Given the description of an element on the screen output the (x, y) to click on. 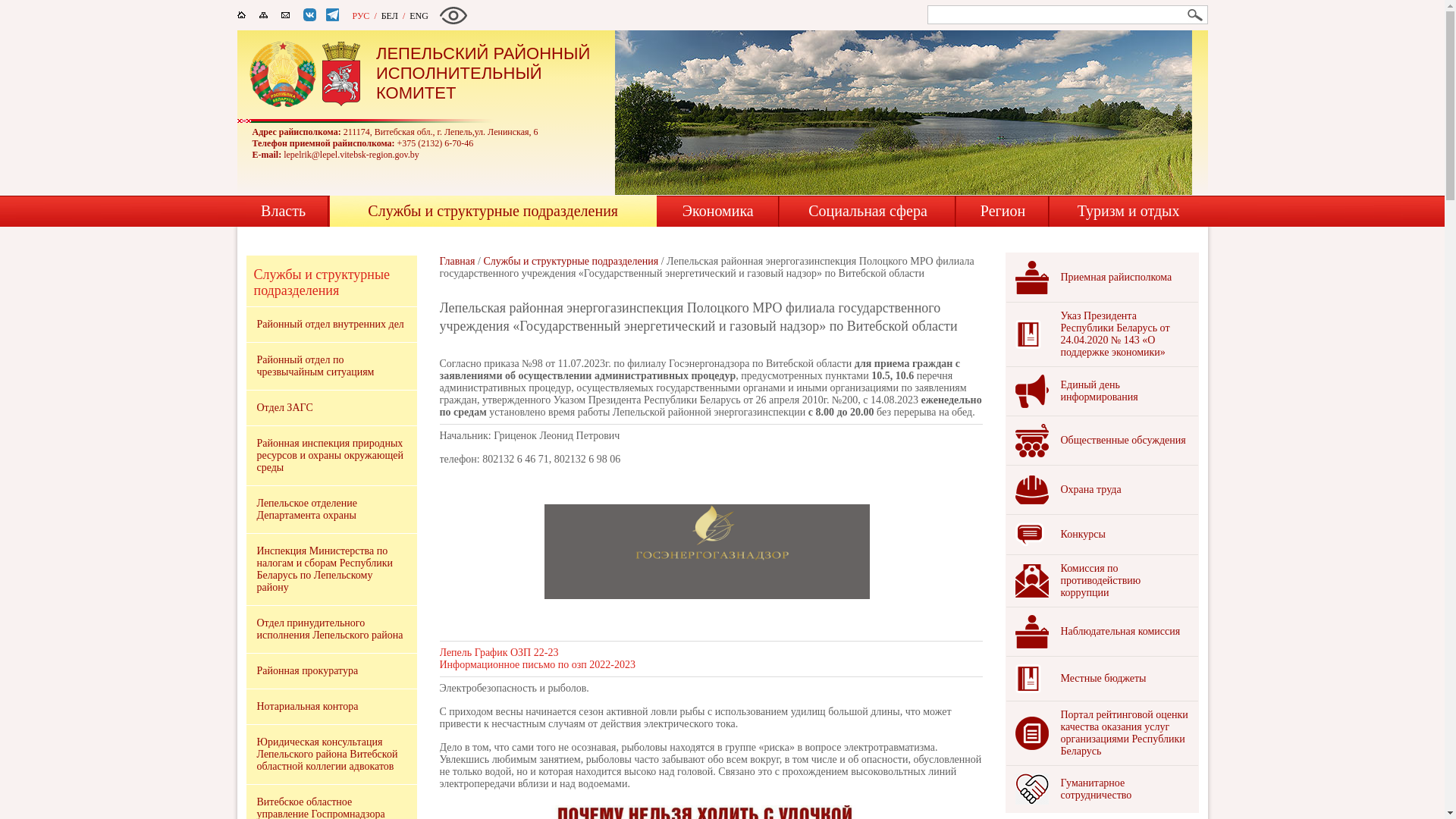
Telegram Element type: hover (340, 14)
lepelrik@lepel.vitebsk-region.gov.by Element type: text (351, 154)
ENG Element type: text (418, 15)
